Given the description of an element on the screen output the (x, y) to click on. 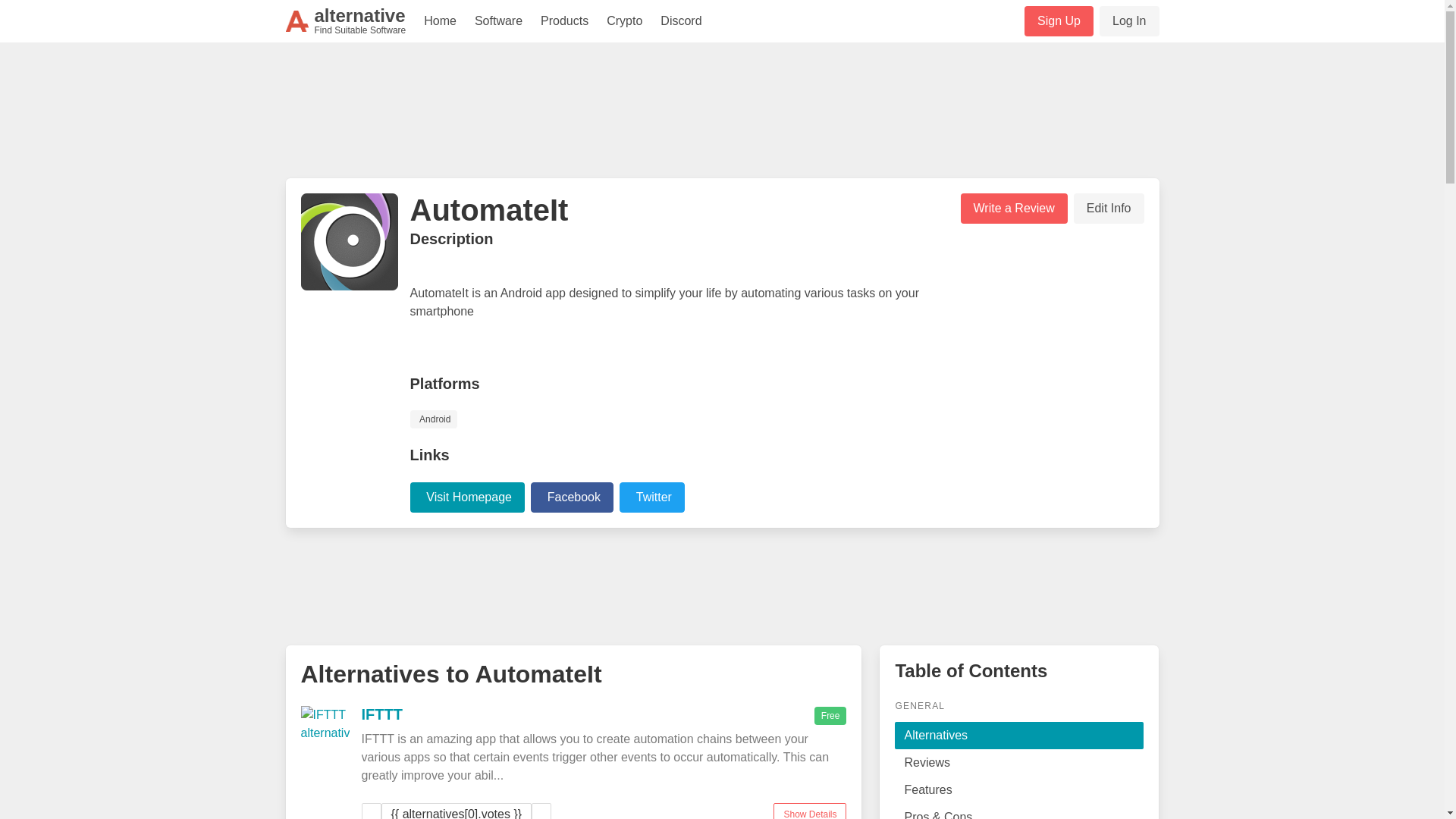
Crypto (345, 21)
Twitter (623, 21)
Visit Homepage (652, 497)
Products (469, 495)
Facebook (563, 21)
Facebook (571, 497)
Home (573, 495)
Software (439, 21)
Alternatives (498, 21)
Write a Review (1018, 735)
Log In (1013, 208)
IFTTT (1128, 20)
Sign Up (381, 713)
Show Details (1059, 20)
